Given the description of an element on the screen output the (x, y) to click on. 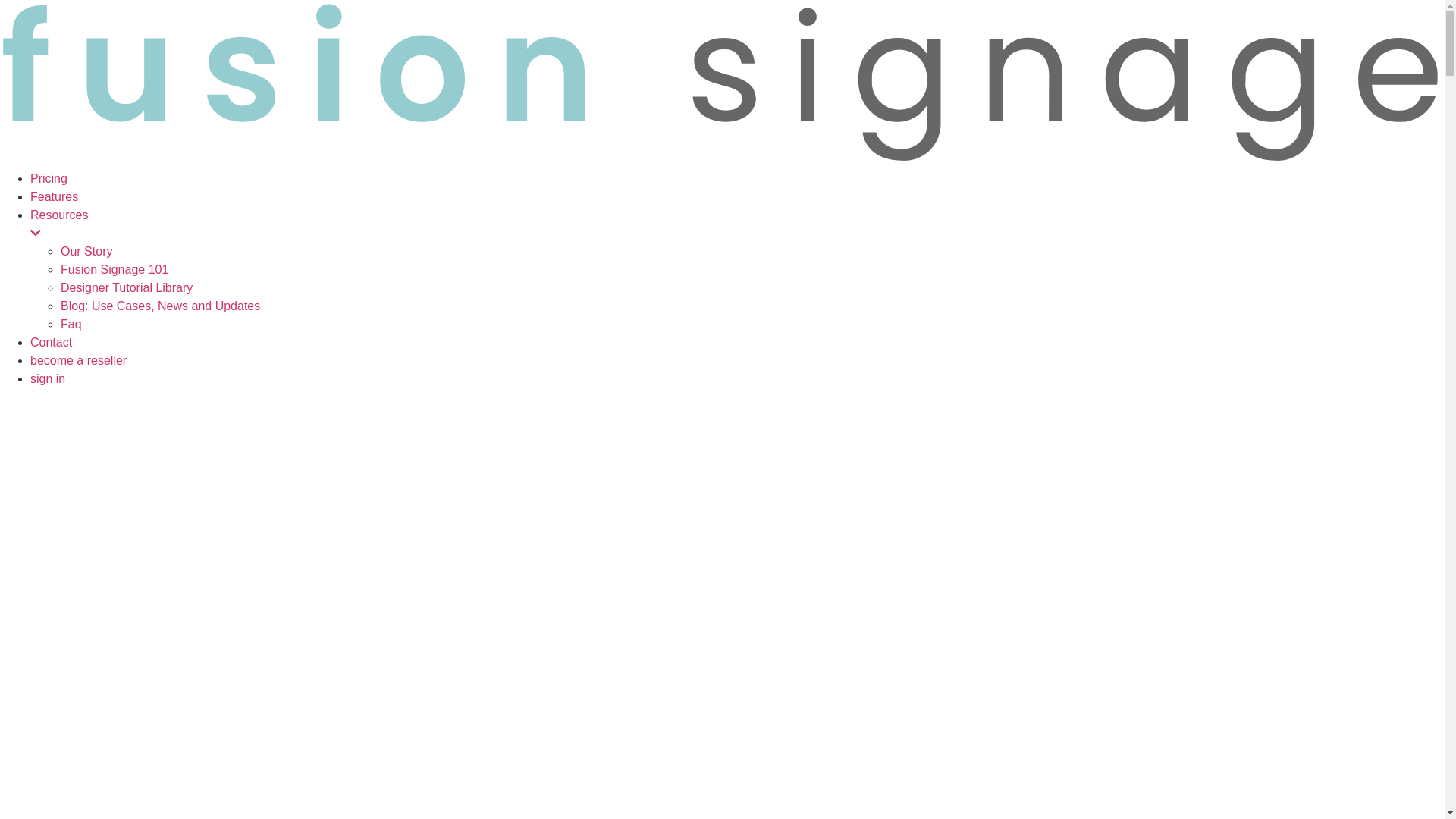
Resources Element type: text (737, 224)
become a reseller Element type: text (737, 360)
Contact Element type: text (737, 342)
Blog: Use Cases, News and Updates Element type: text (752, 306)
Designer Tutorial Library Element type: text (752, 288)
Faq Element type: text (752, 324)
Features Element type: text (737, 197)
Our Story Element type: text (752, 251)
Pricing Element type: text (737, 178)
sign in Element type: text (737, 379)
Fusion Signage 101 Element type: text (752, 269)
